Given the description of an element on the screen output the (x, y) to click on. 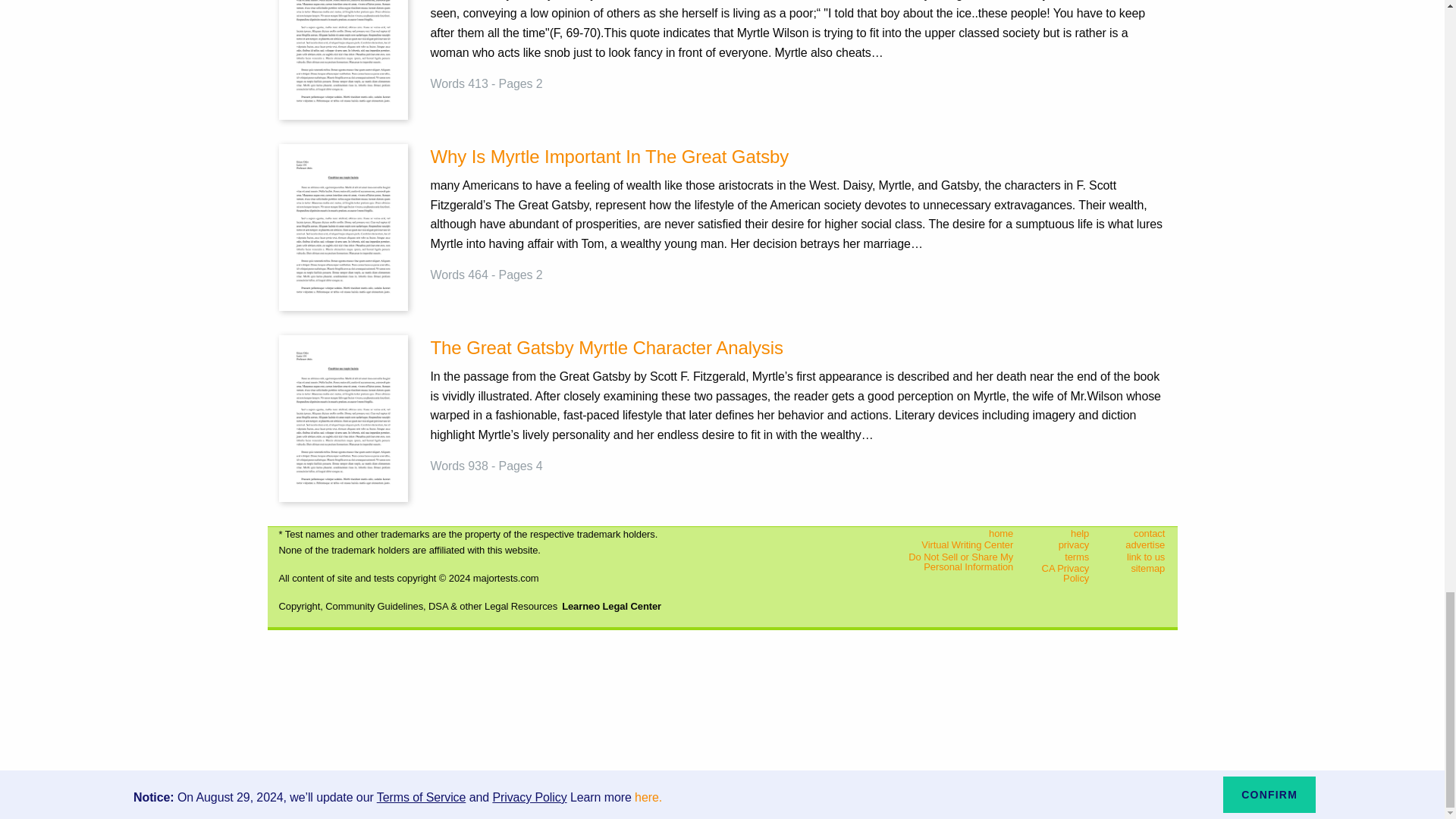
Learneo Legal Center (611, 605)
Why Is Myrtle Important In The Great Gatsby (798, 156)
Who Is Myrtle Wilson In The Great Gatsby (343, 35)
Why Is Myrtle Important In The Great Gatsby (798, 156)
Why Is Myrtle Important In The Great Gatsby (343, 226)
Virtual Writing Center (949, 544)
home (949, 532)
The Great Gatsby Myrtle Character Analysis (798, 347)
The Great Gatsby Myrtle Character Analysis (798, 347)
The Great Gatsby Myrtle Character Analysis (343, 418)
